Given the description of an element on the screen output the (x, y) to click on. 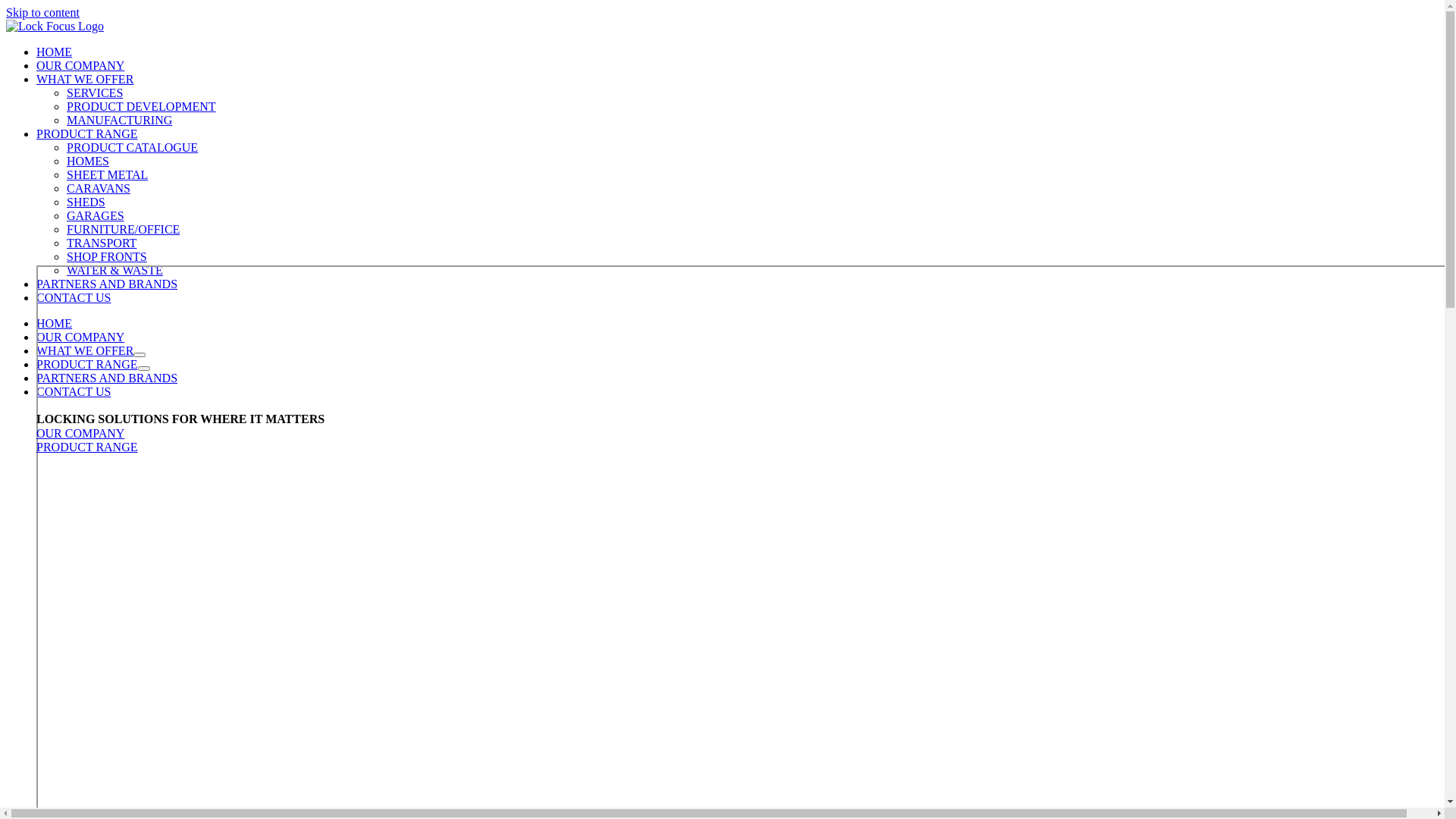
SERVICES Element type: text (94, 92)
PRODUCT RANGE Element type: text (87, 363)
GARAGES Element type: text (95, 215)
MANUFACTURING Element type: text (119, 119)
OUR COMPANY Element type: text (80, 65)
HOME Element type: text (54, 322)
PARTNERS AND BRANDS Element type: text (106, 283)
CONTACT US Element type: text (73, 297)
CONTACT US Element type: text (73, 391)
CARAVANS Element type: text (98, 188)
WHAT WE OFFER Element type: text (84, 78)
PRODUCT CATALOGUE Element type: text (131, 147)
PARTNERS AND BRANDS Element type: text (106, 377)
HOMES Element type: text (87, 160)
WATER & WASTE Element type: text (114, 269)
HOME Element type: text (54, 51)
SHEDS Element type: text (85, 201)
PRODUCT DEVELOPMENT Element type: text (141, 106)
OUR COMPANY Element type: text (80, 336)
TRANSPORT Element type: text (101, 242)
OUR COMPANY Element type: text (80, 432)
FURNITURE/OFFICE Element type: text (122, 228)
SHOP FRONTS Element type: text (106, 256)
SHEET METAL Element type: text (106, 174)
PRODUCT RANGE Element type: text (87, 446)
PRODUCT RANGE Element type: text (87, 133)
WHAT WE OFFER Element type: text (84, 350)
Skip to content Element type: text (42, 12)
